Given the description of an element on the screen output the (x, y) to click on. 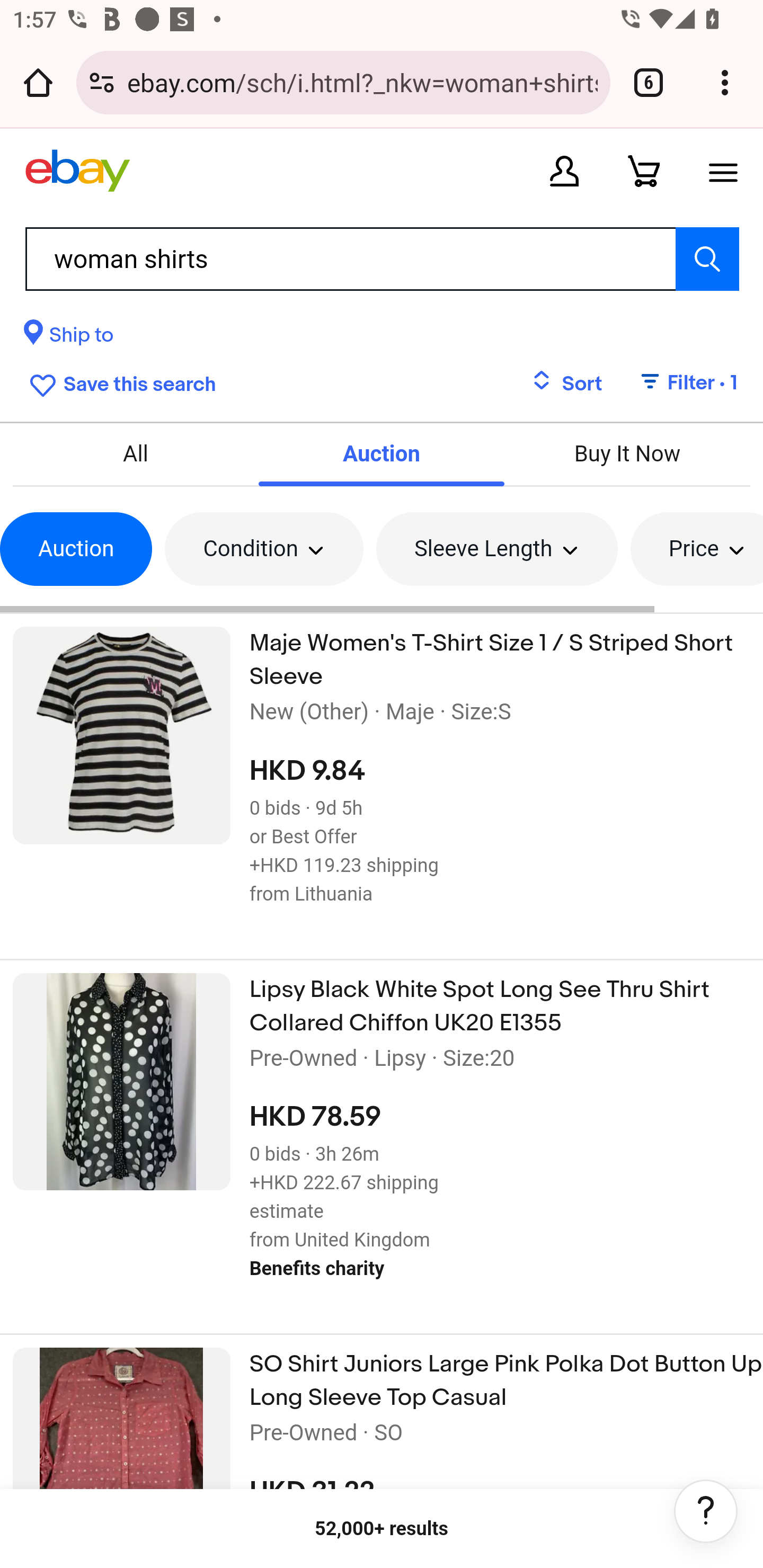
Open the home page (38, 82)
Connection is secure (101, 82)
Switch or close tabs (648, 82)
Customize and control Google Chrome (724, 82)
Open Menu (723, 170)
My eBay (564, 170)
Your shopping cart is empty (643, 170)
eBay Home (77, 170)
woman shirts (381, 258)
Search (707, 258)
Ship to  (68, 338)
Sort (566, 384)
Filter • 1 (678, 384)
Save this search woman shirts search (118, 382)
All (135, 453)
Auction selected (381, 453)
Buy It Now (626, 453)
Auction Remove filter AuctionRemove filter (76, 548)
Condition (263, 548)
Sleeve Length (496, 548)
Price (696, 548)
Help (705, 1511)
